Given the description of an element on the screen output the (x, y) to click on. 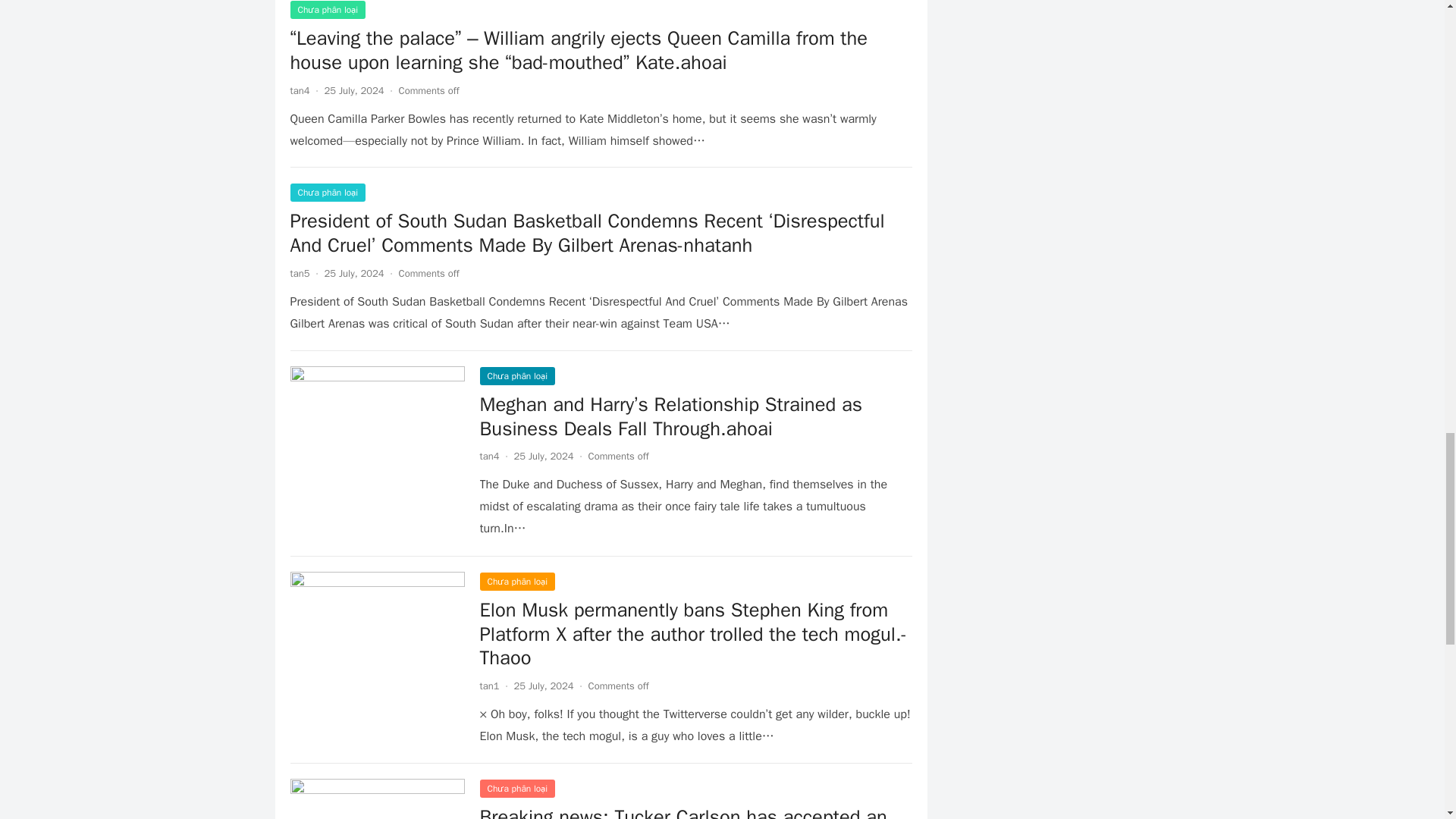
tan1 (489, 685)
Posts by tan4 (489, 455)
Posts by tan1 (489, 685)
tan5 (298, 273)
Posts by tan4 (298, 90)
tan4 (298, 90)
Posts by tan5 (298, 273)
tan4 (489, 455)
